Given the description of an element on the screen output the (x, y) to click on. 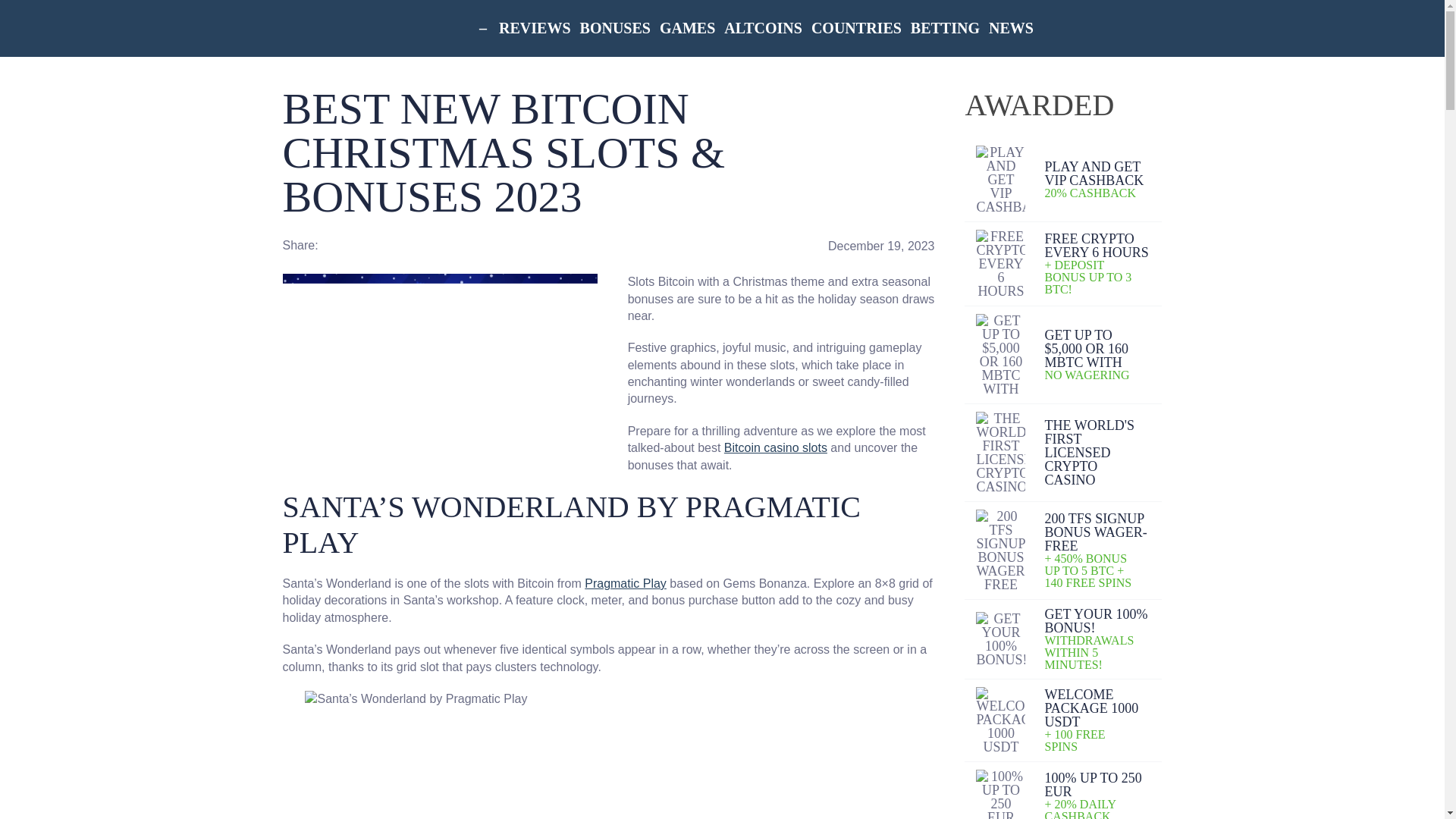
REVIEWS (534, 28)
ALTCOINS (762, 28)
GAMES (686, 28)
crypto-CryptoGambling.io (342, 27)
BONUSES (614, 28)
